Given the description of an element on the screen output the (x, y) to click on. 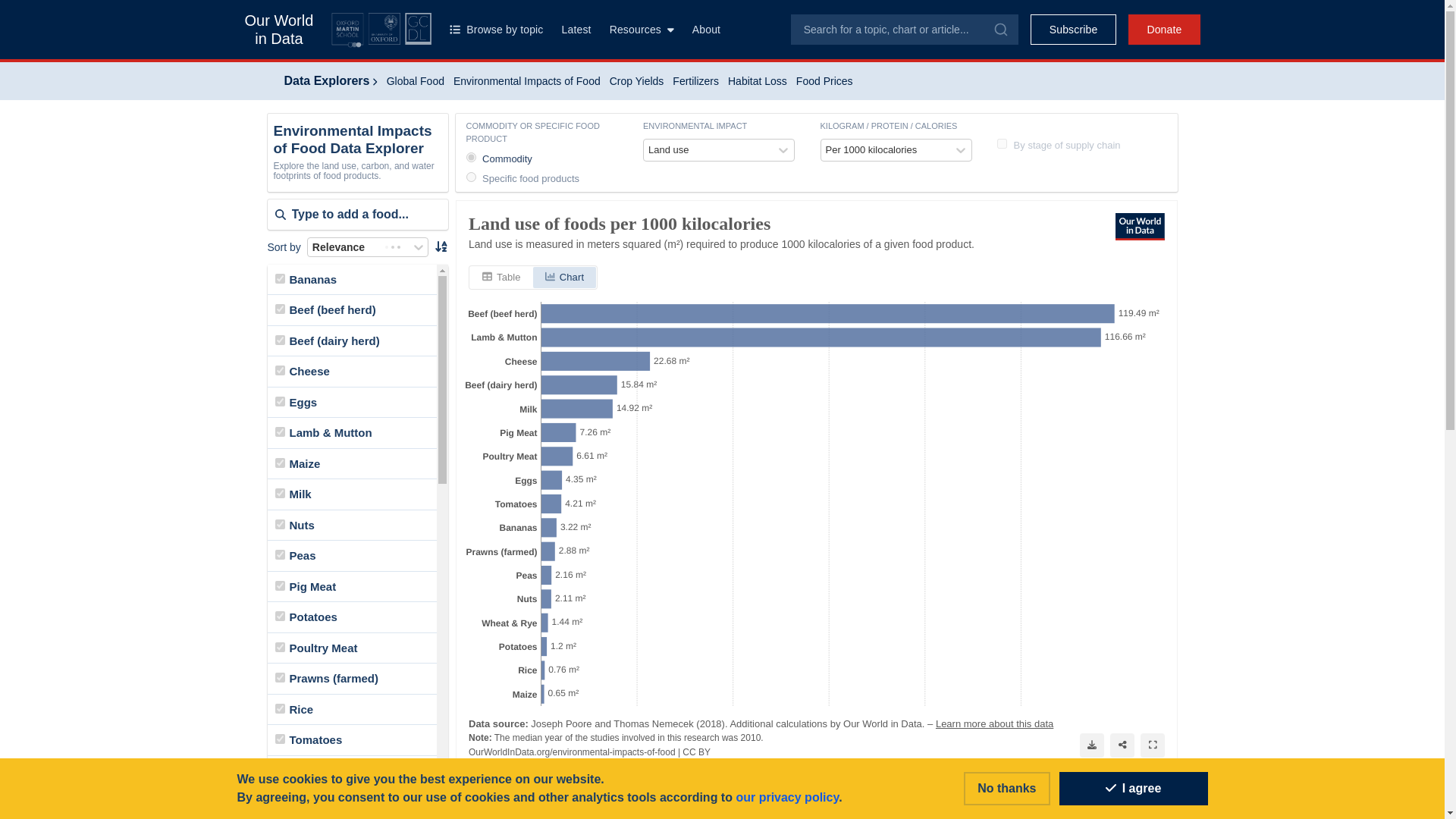
Environmental Impacts of Food (525, 80)
Submit (999, 29)
Data Explorers (330, 80)
CC BY (696, 751)
Fertilizers (695, 80)
Poultry Meat (279, 646)
Bananas (279, 278)
Eggs (279, 401)
Habitat Loss (757, 80)
Learn more about this data (993, 722)
